Given the description of an element on the screen output the (x, y) to click on. 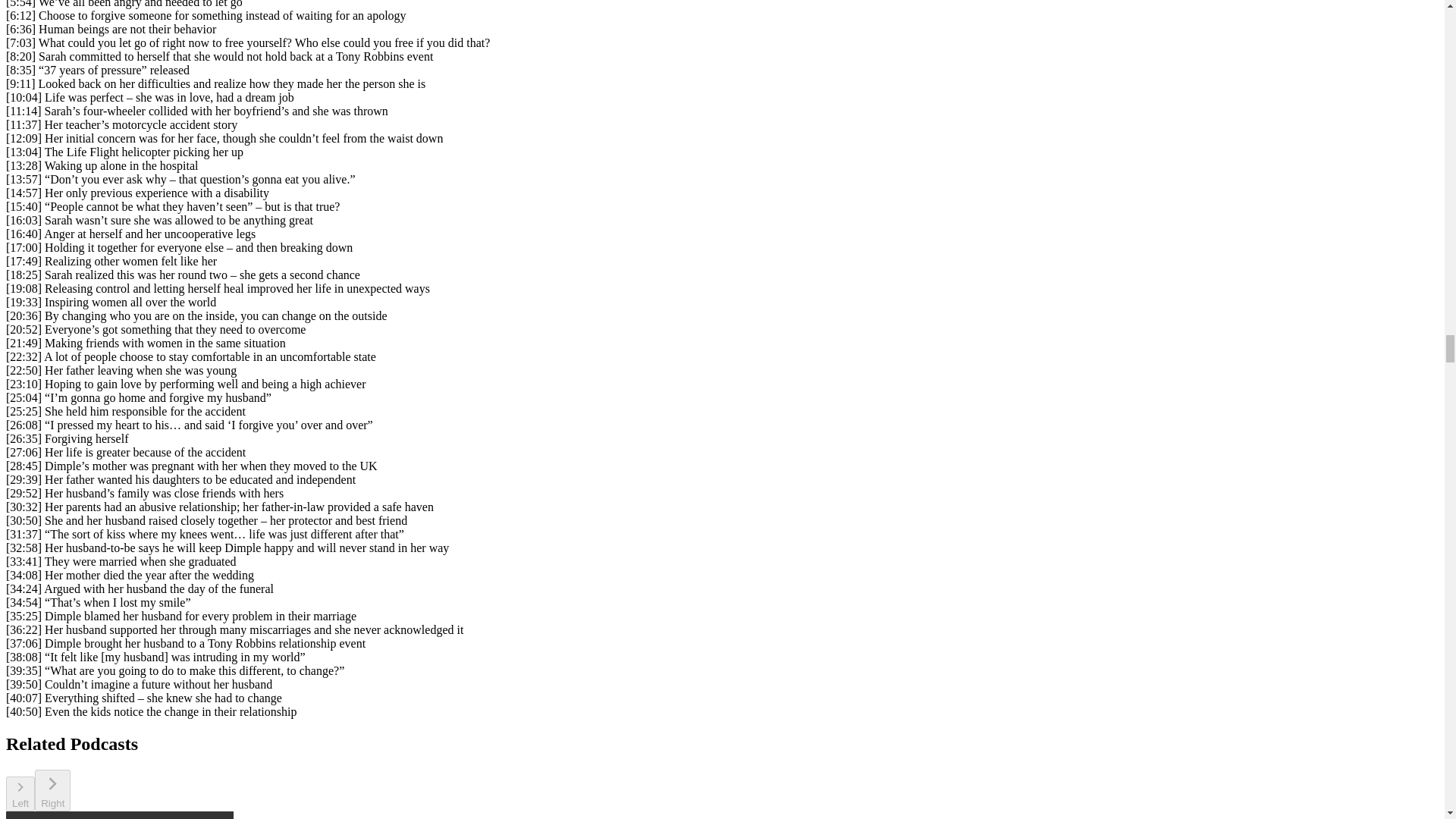
Chevron (52, 783)
Chevron (20, 787)
